Given the description of an element on the screen output the (x, y) to click on. 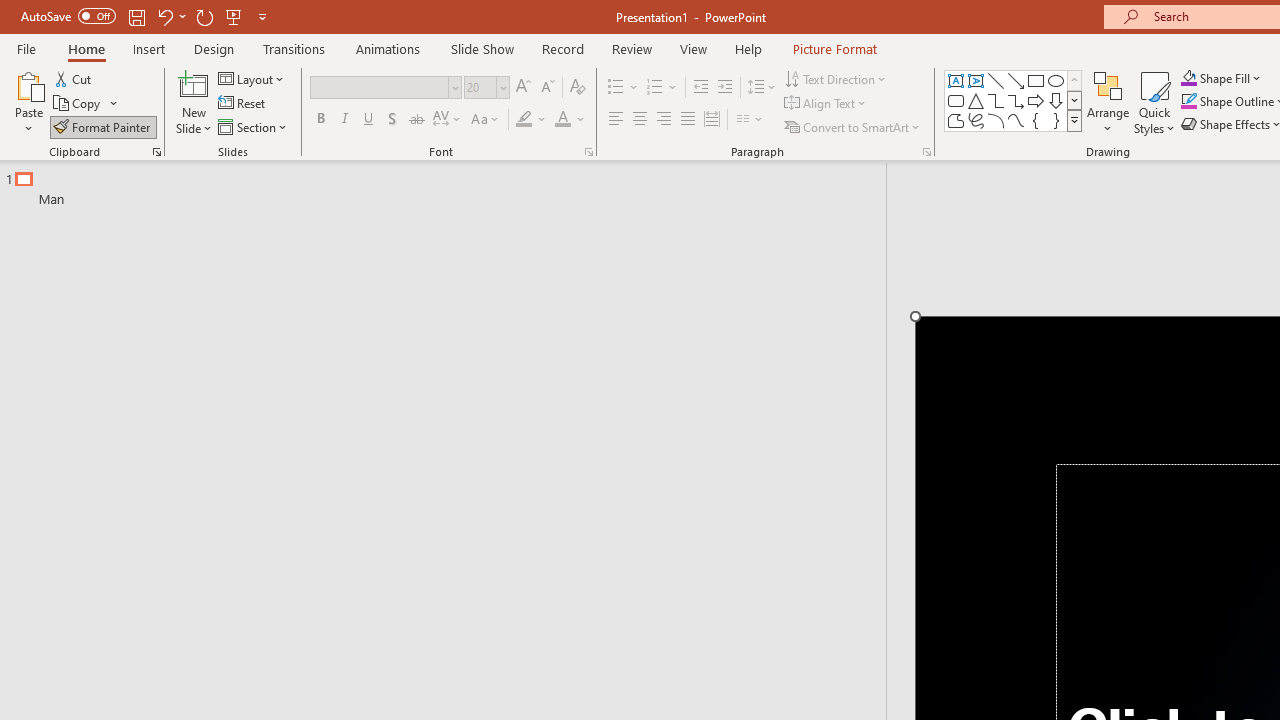
Distributed (712, 119)
Font Color (569, 119)
Columns (750, 119)
Oval (1055, 80)
Shapes (1074, 120)
Line (995, 80)
Increase Font Size (522, 87)
Curve (1016, 120)
Quick Styles (1154, 102)
Font Size (480, 87)
Numbering (654, 87)
Shape Outline Blue, Accent 1 (1188, 101)
